Given the description of an element on the screen output the (x, y) to click on. 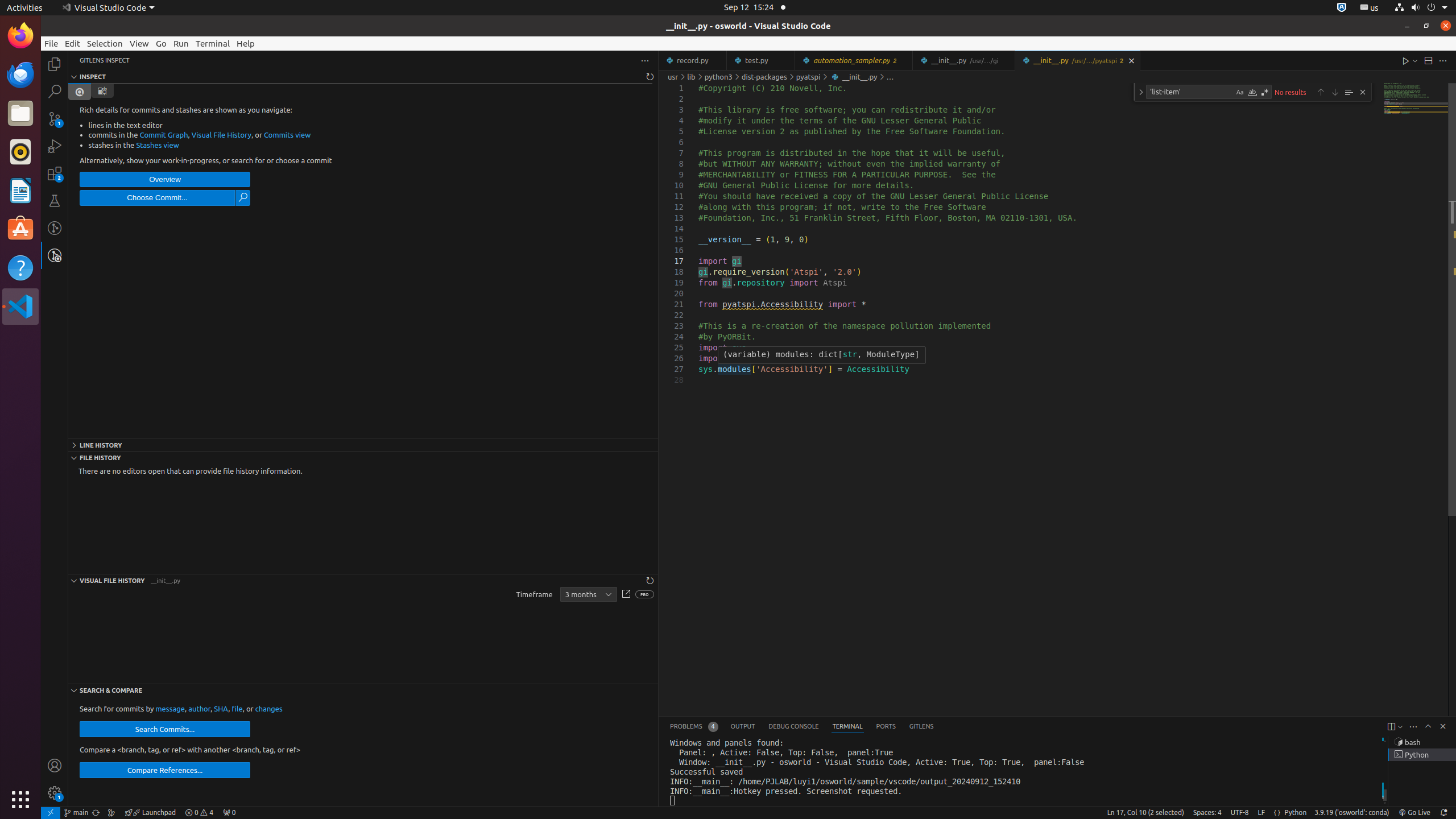
Visual File History Element type: link (221, 134)
Ports Element type: page-tab (885, 726)
author Element type: push-button (199, 708)
Terminal (Ctrl+`) Element type: page-tab (847, 726)
